Given the description of an element on the screen output the (x, y) to click on. 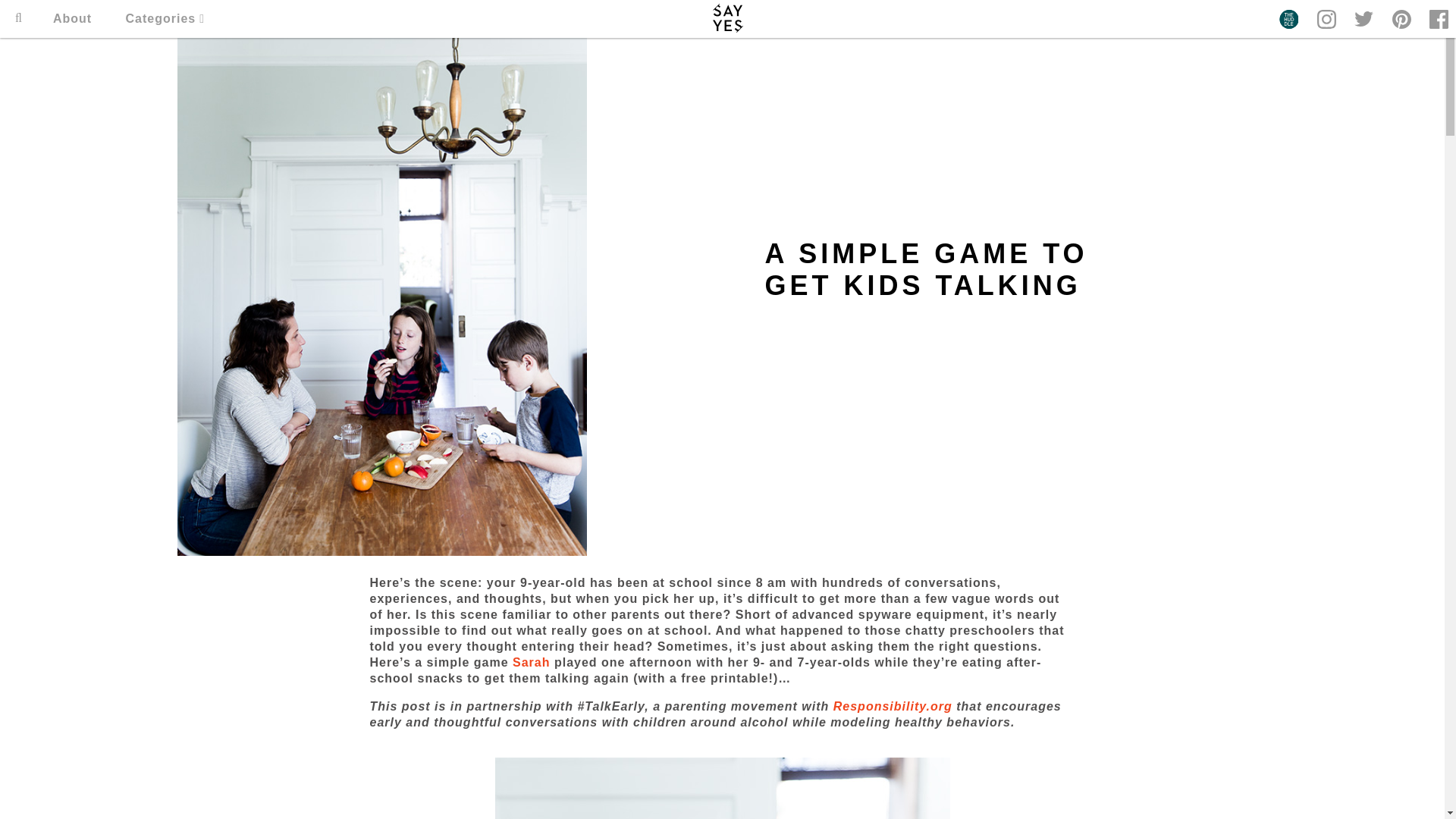
Categories (165, 18)
About (71, 18)
Sarah (531, 662)
Responsibility.org (892, 706)
